Given the description of an element on the screen output the (x, y) to click on. 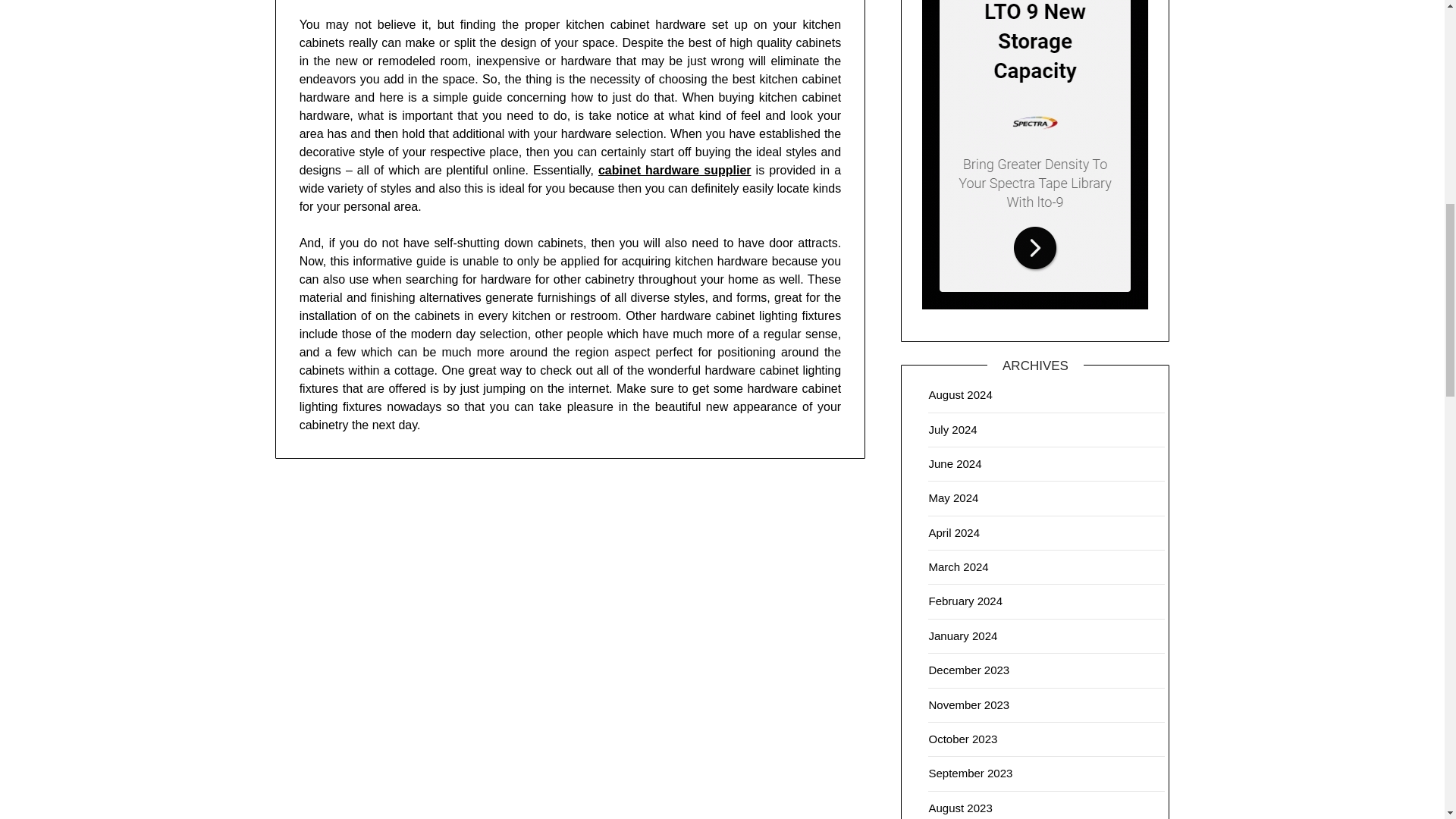
December 2023 (968, 669)
May 2024 (953, 497)
October 2023 (962, 738)
April 2024 (953, 532)
November 2023 (968, 704)
January 2024 (962, 635)
July 2024 (952, 429)
September 2023 (969, 772)
March 2024 (958, 566)
cabinet hardware supplier (674, 169)
